Given the description of an element on the screen output the (x, y) to click on. 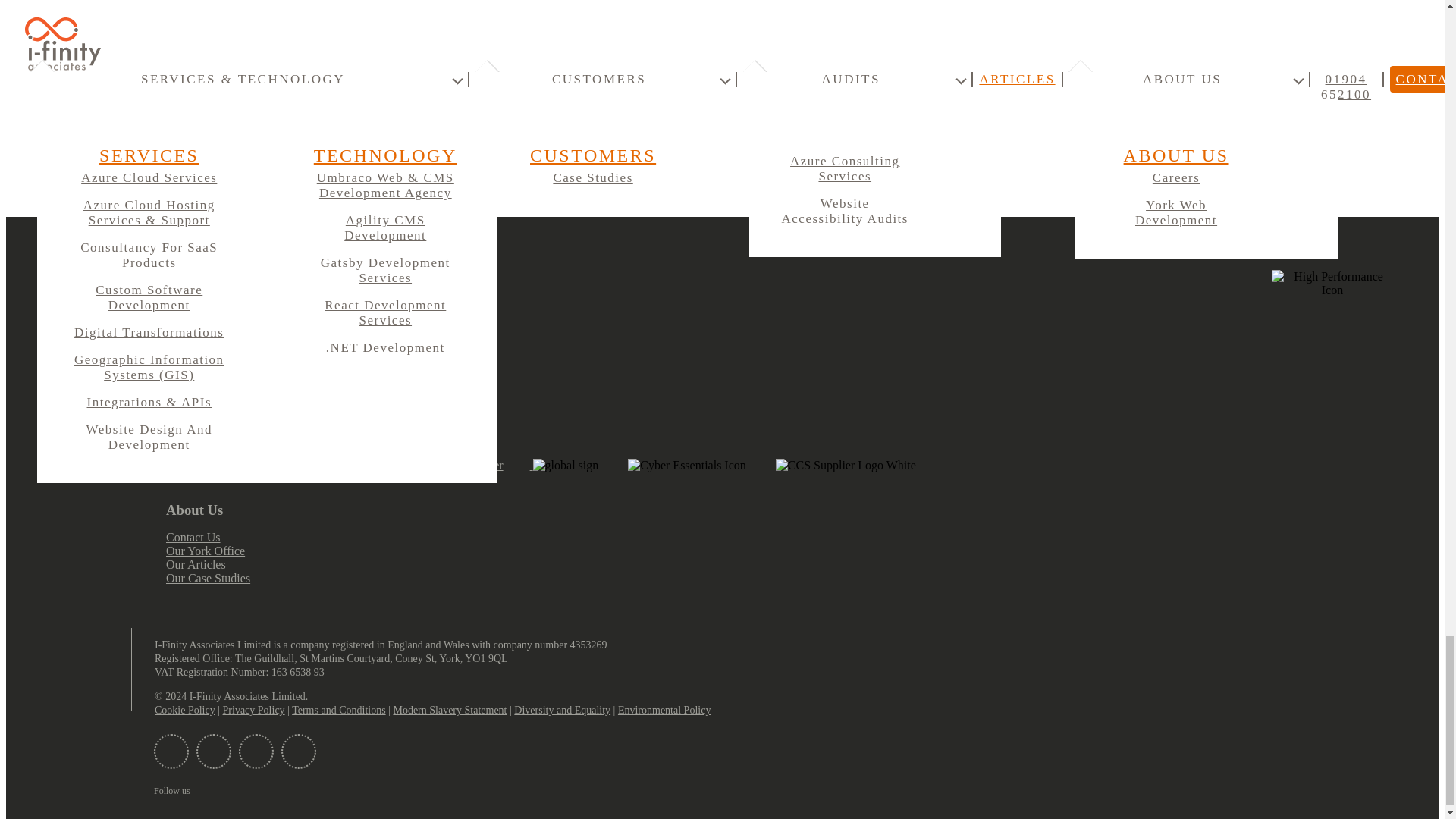
I-Finity on Facebook (171, 751)
I-Finity on Twitter (213, 751)
I-Finity on Instagram (298, 751)
Microsoft Partner (214, 465)
I-Finity (75, 276)
I-Finity on LinkedIn (255, 751)
